Given the description of an element on the screen output the (x, y) to click on. 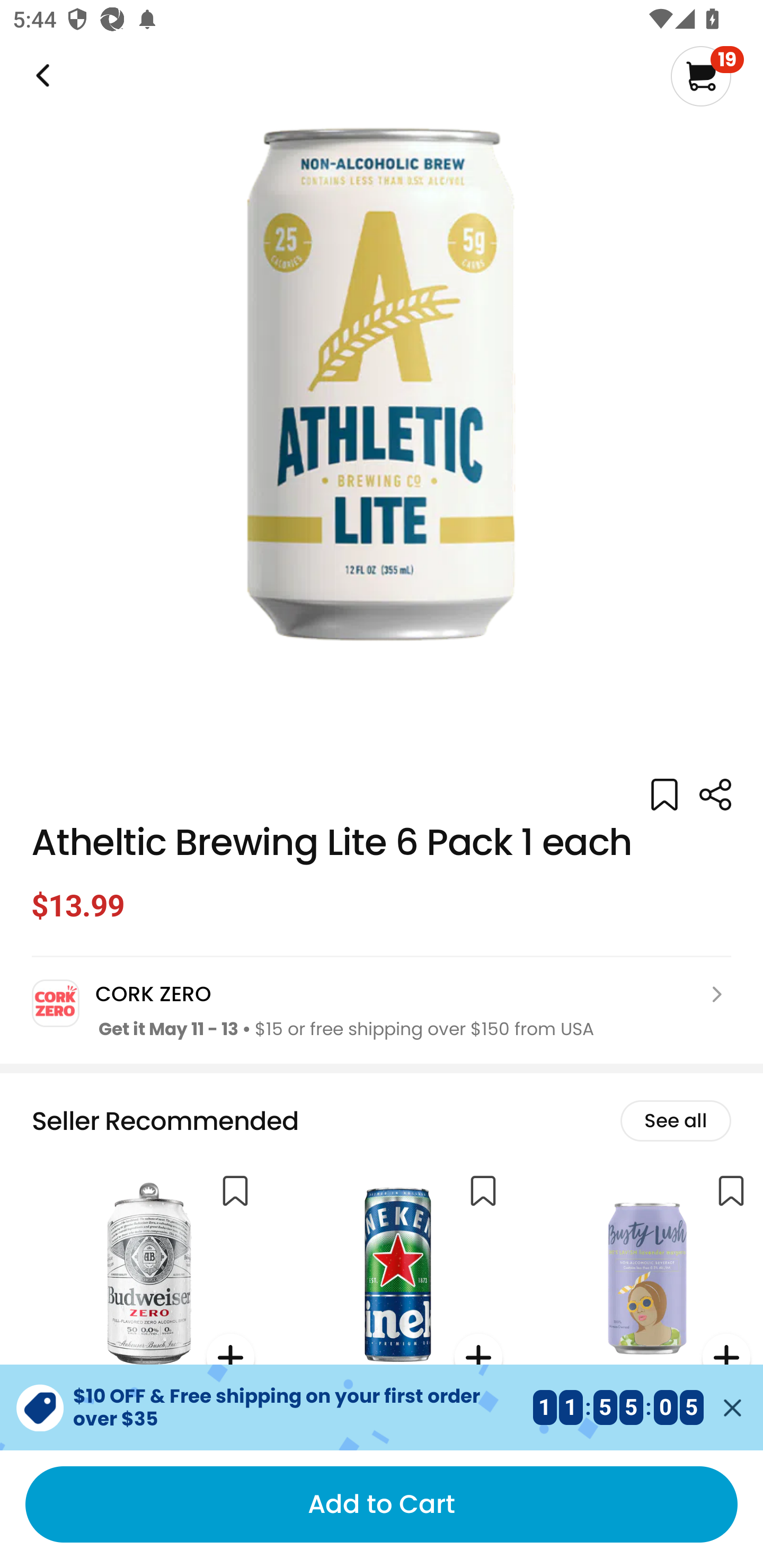
Weee! (41, 75)
19 (706, 75)
Weee! (714, 794)
Add to Cart (381, 1504)
Add to Cart (381, 1504)
